Given the description of an element on the screen output the (x, y) to click on. 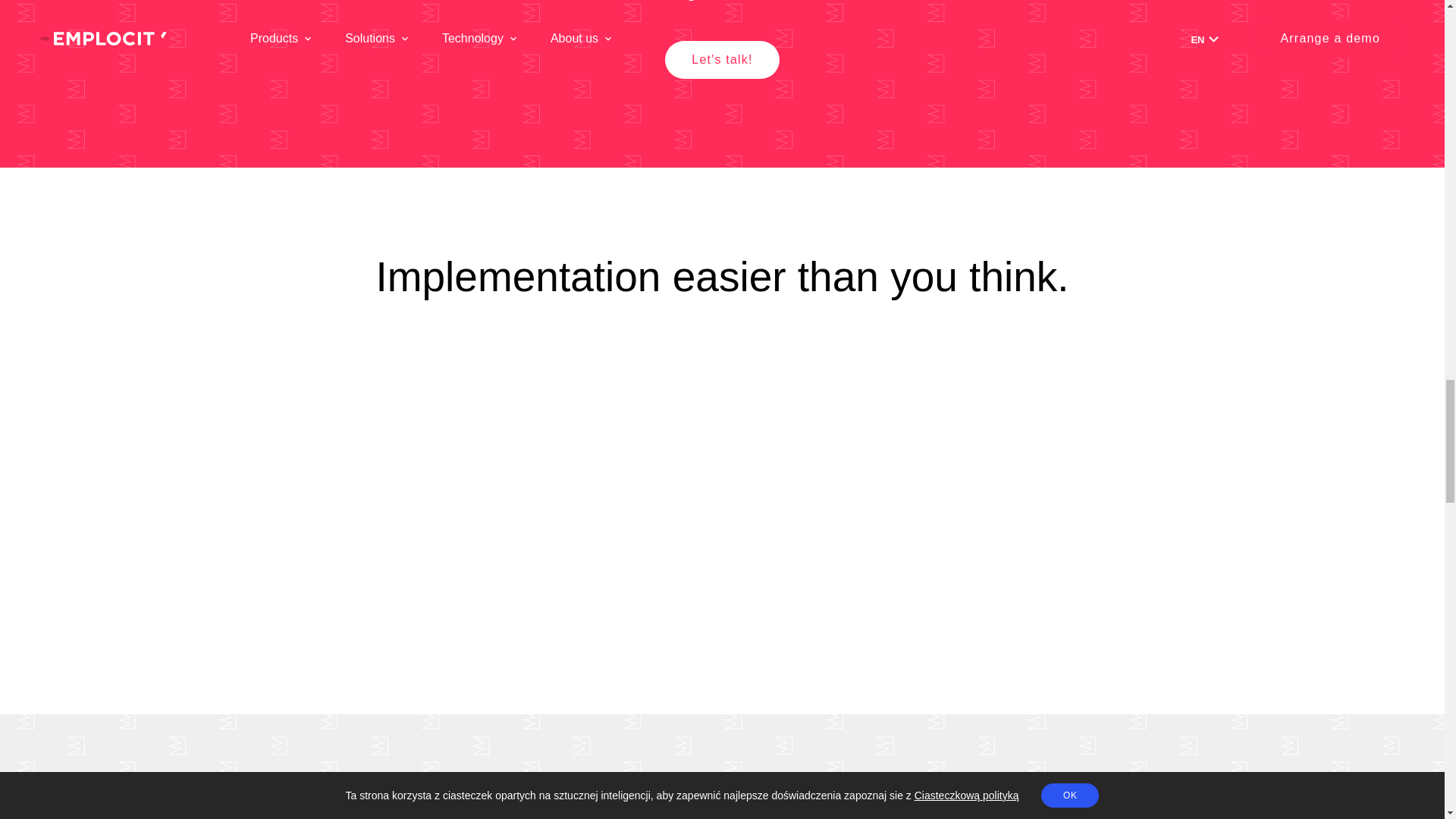
Let's talk! (721, 59)
